Given the description of an element on the screen output the (x, y) to click on. 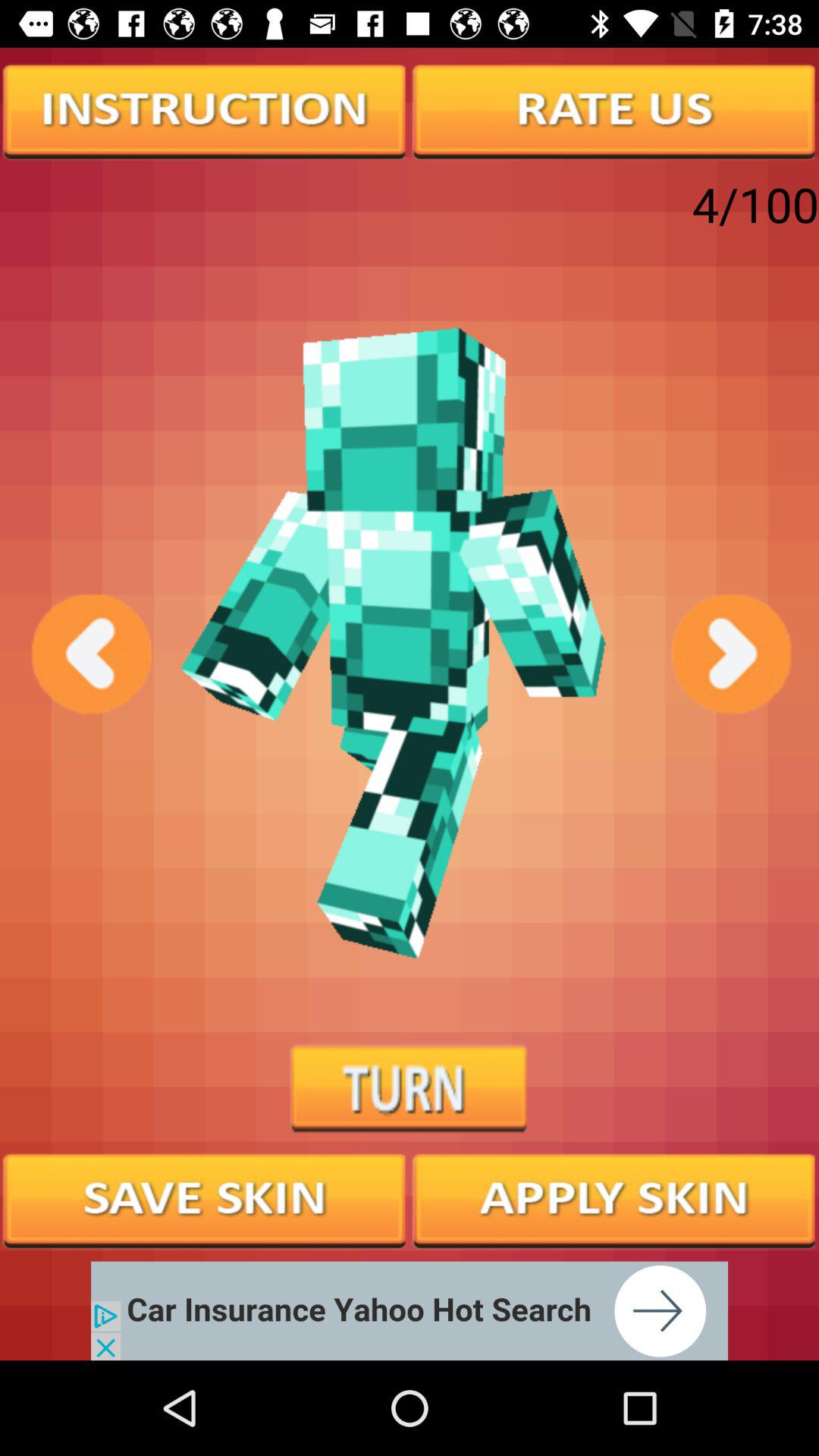
apply skin (614, 1198)
